Given the description of an element on the screen output the (x, y) to click on. 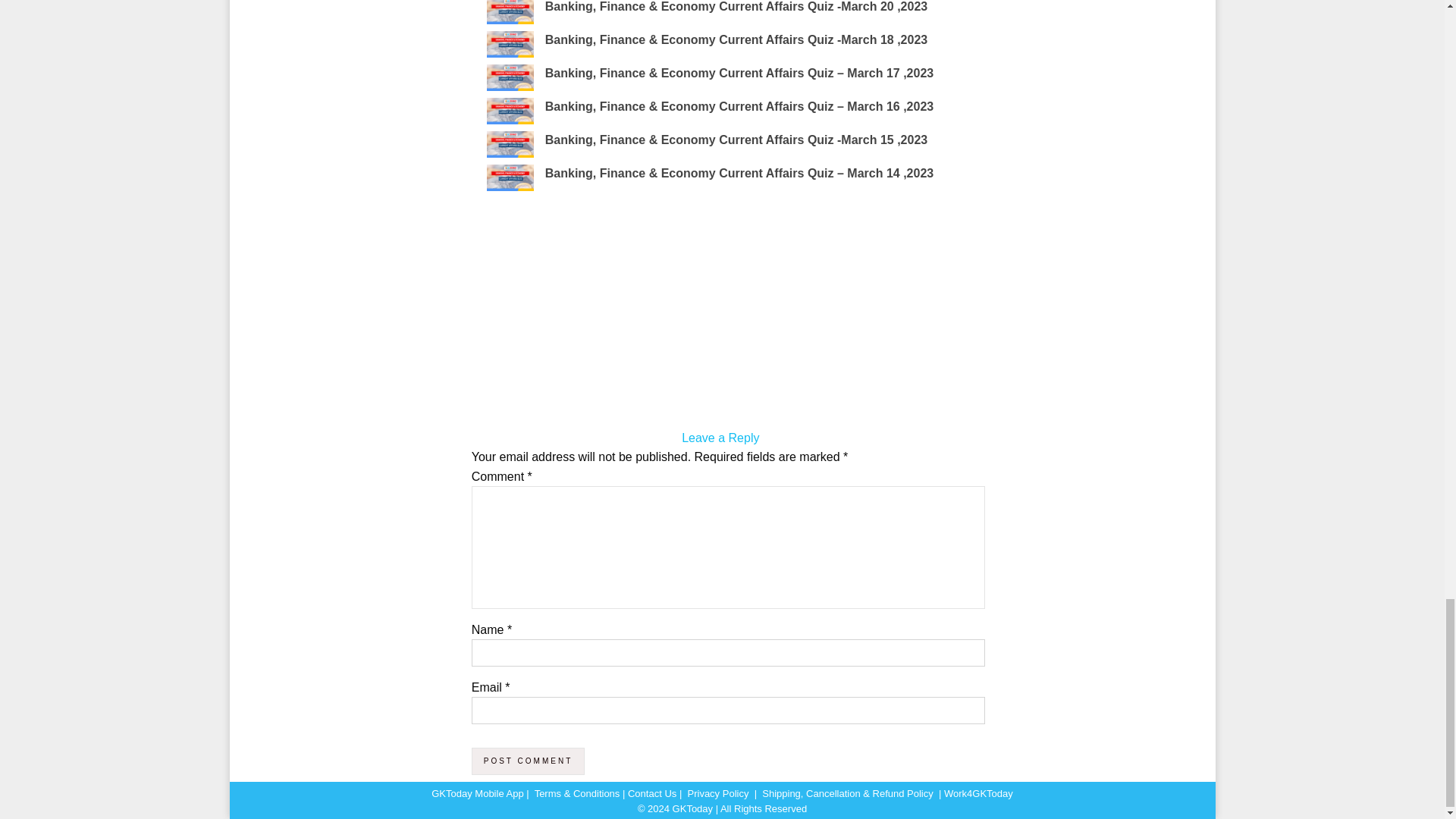
Advertisement (720, 315)
Post Comment (528, 760)
Post Comment (528, 760)
